Given the description of an element on the screen output the (x, y) to click on. 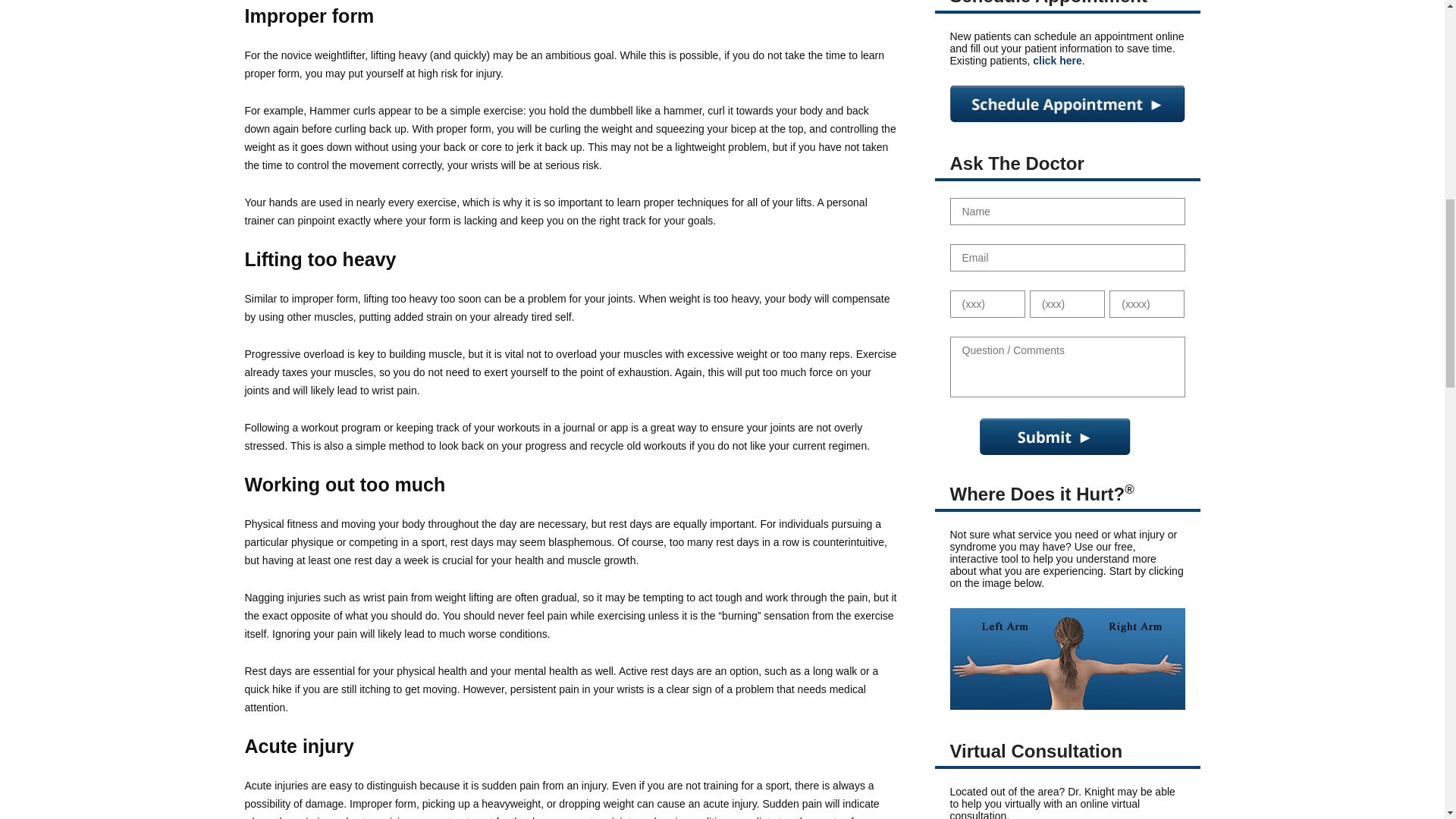
submit (1055, 436)
